Given the description of an element on the screen output the (x, y) to click on. 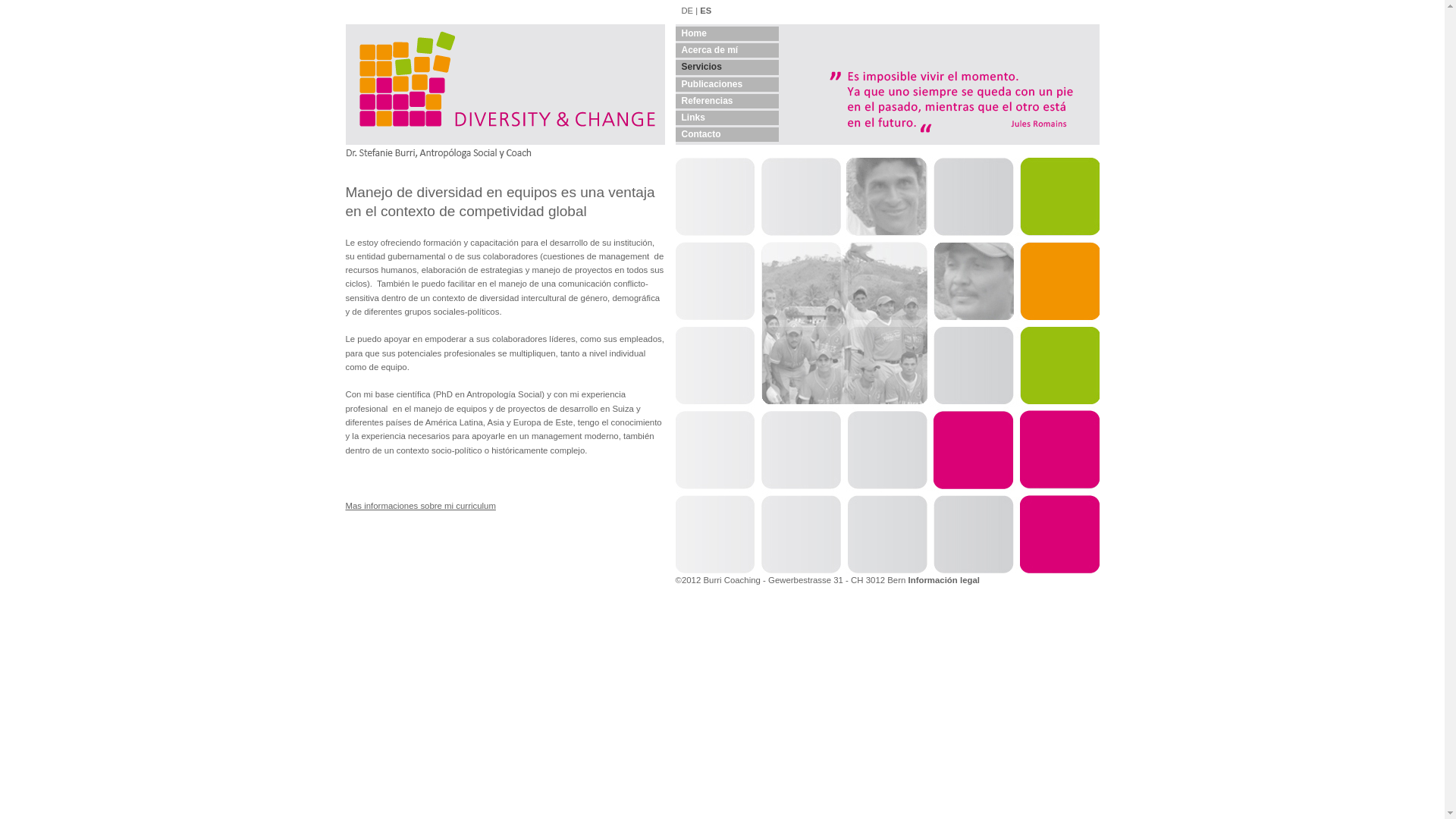
Mas informaciones sobre mi curriculum Element type: text (420, 505)
Home Element type: text (726, 32)
Publicaciones Element type: text (726, 83)
DE Element type: text (686, 10)
Links Element type: text (726, 116)
Servicios Element type: text (726, 65)
Referencias Element type: text (726, 99)
Diversity Management Element type: hover (886, 365)
Contacto Element type: text (726, 133)
